Given the description of an element on the screen output the (x, y) to click on. 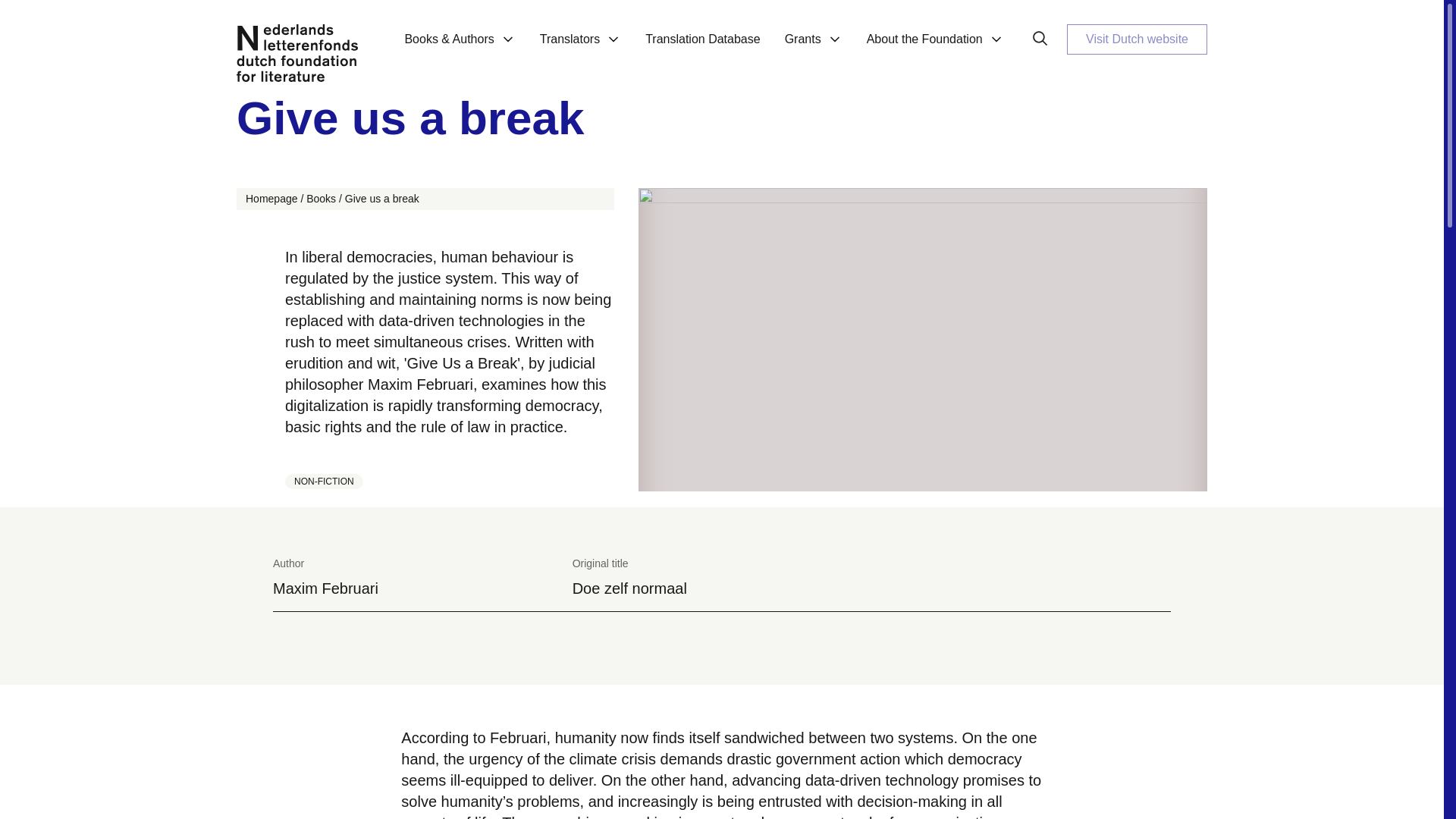
Translators (580, 48)
Visit Dutch website (1137, 39)
Translation Database (702, 48)
Books (320, 198)
Visit Dutch website (1137, 39)
About the Foundation (935, 48)
Homepage (272, 198)
Give us a break (382, 198)
Grants (813, 48)
Give us a break (721, 118)
